Given the description of an element on the screen output the (x, y) to click on. 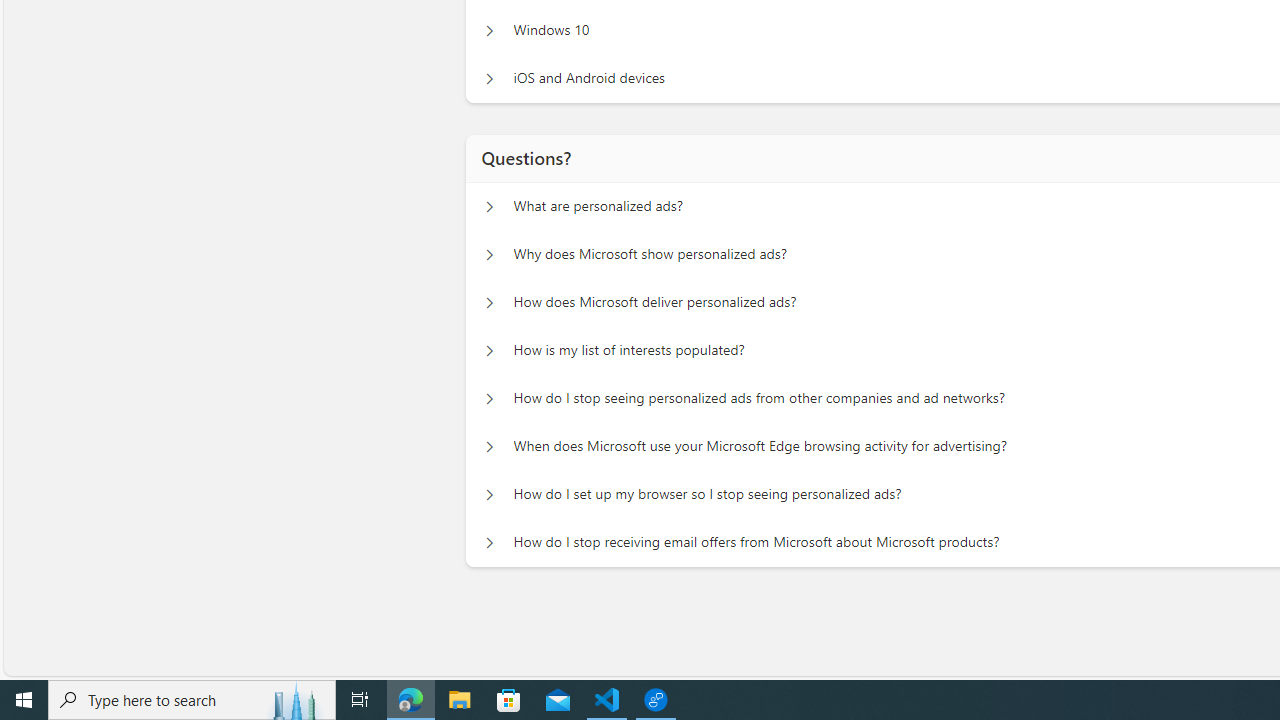
Questions? Why does Microsoft show personalized ads? (489, 255)
Questions? How does Microsoft deliver personalized ads? (489, 302)
Manage personalized ads on your device Windows 10 (489, 30)
Questions? How is my list of interests populated? (489, 350)
Questions? What are personalized ads? (489, 206)
